Given the description of an element on the screen output the (x, y) to click on. 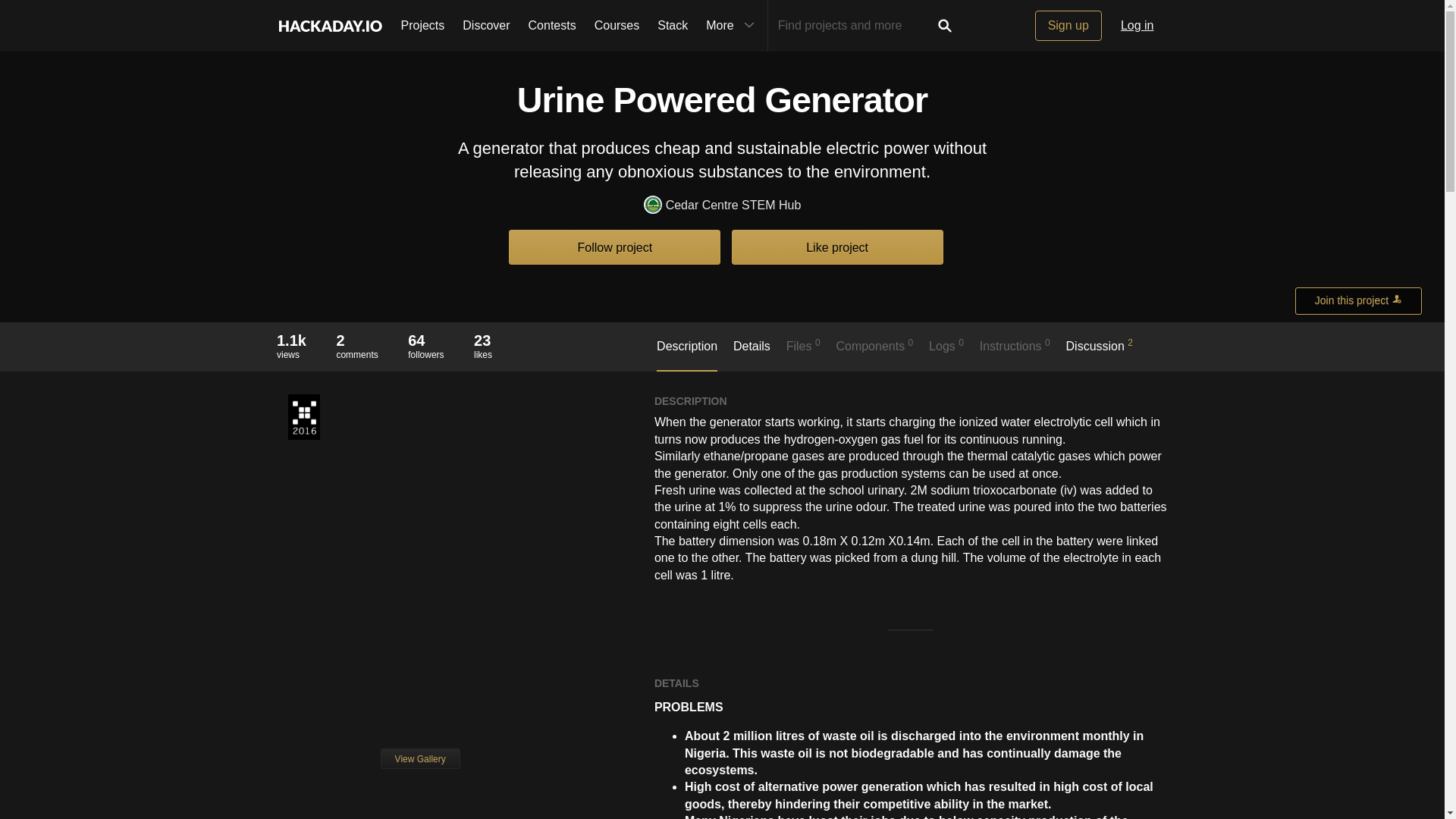
Description (686, 354)
Like project (837, 246)
Projects (421, 25)
View Count (290, 340)
Comments (356, 340)
Details (751, 354)
Cedar Centre STEM Hub (722, 205)
Stack (672, 25)
Sign up (1068, 25)
Contests (552, 25)
